Given the description of an element on the screen output the (x, y) to click on. 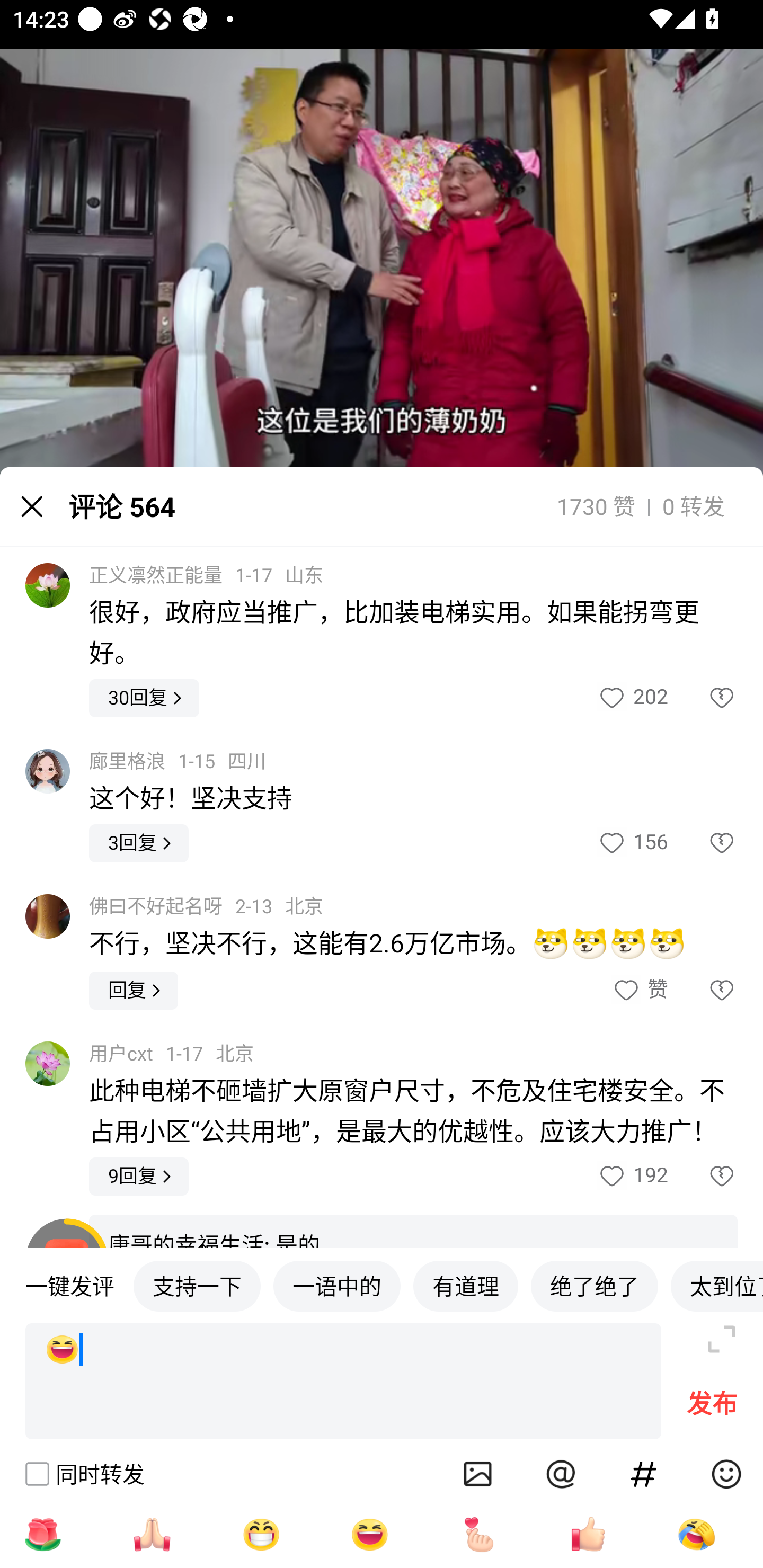
支持一下 (196, 1285)
一语中的 (336, 1285)
有道理 (465, 1285)
绝了绝了 (594, 1285)
太到位了 (716, 1285)
[大笑] (343, 1381)
全屏编辑 (721, 1338)
发布 (711, 1407)
同时转发 (83, 1473)
相册 (478, 1473)
at (560, 1473)
话题 (643, 1473)
表情 (726, 1473)
[玫瑰] (42, 1534)
[祈祷] (152, 1534)
[呲牙] (261, 1534)
[大笑] (369, 1534)
[比心] (478, 1534)
[赞] (588, 1534)
[捂脸] (696, 1534)
